Given the description of an element on the screen output the (x, y) to click on. 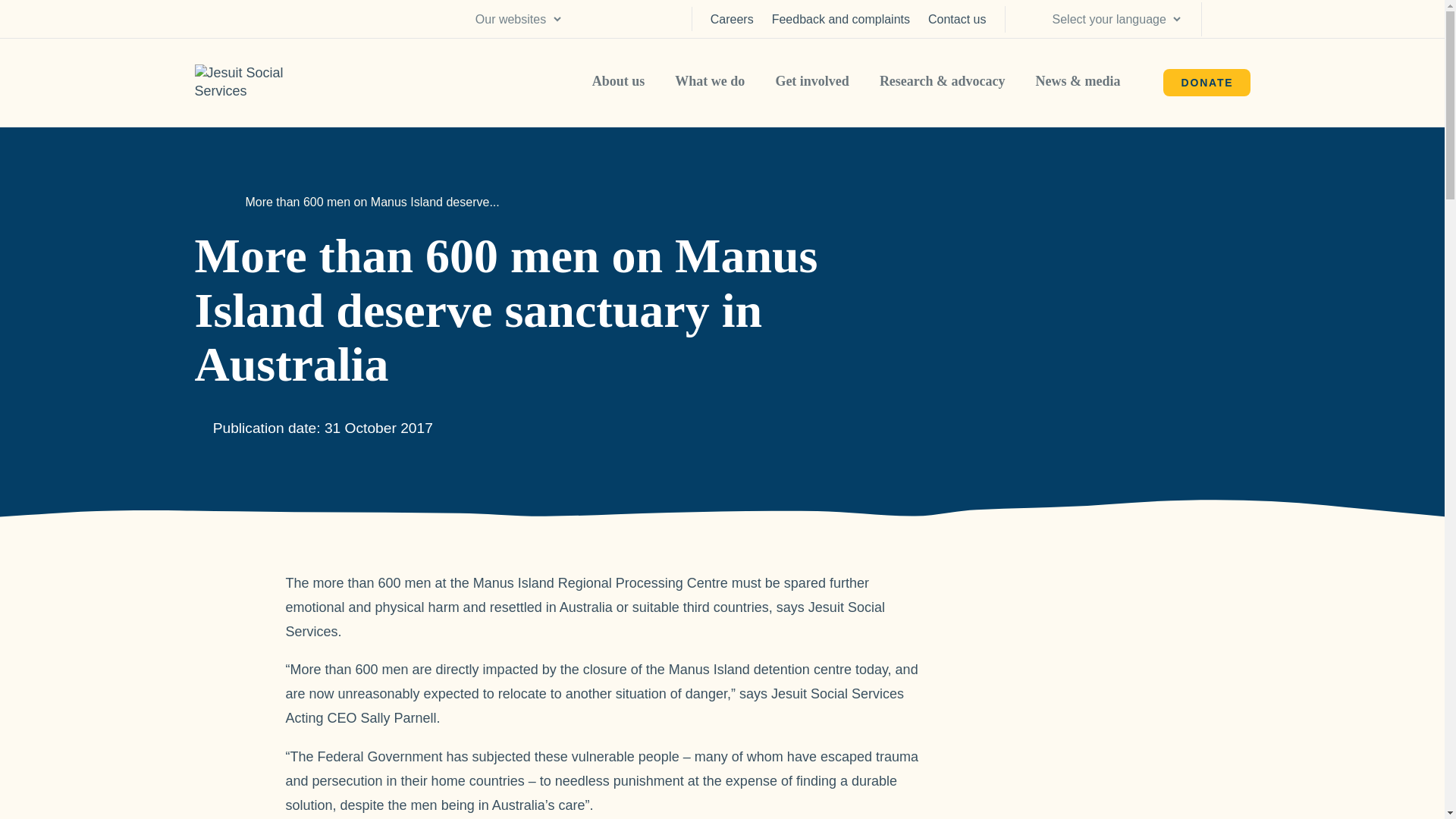
Facebook (627, 18)
Contact us (956, 19)
LinkedIn (590, 18)
Twitter (663, 18)
Feedback and complaints (840, 19)
Careers (732, 19)
Search website (1234, 19)
